Given the description of an element on the screen output the (x, y) to click on. 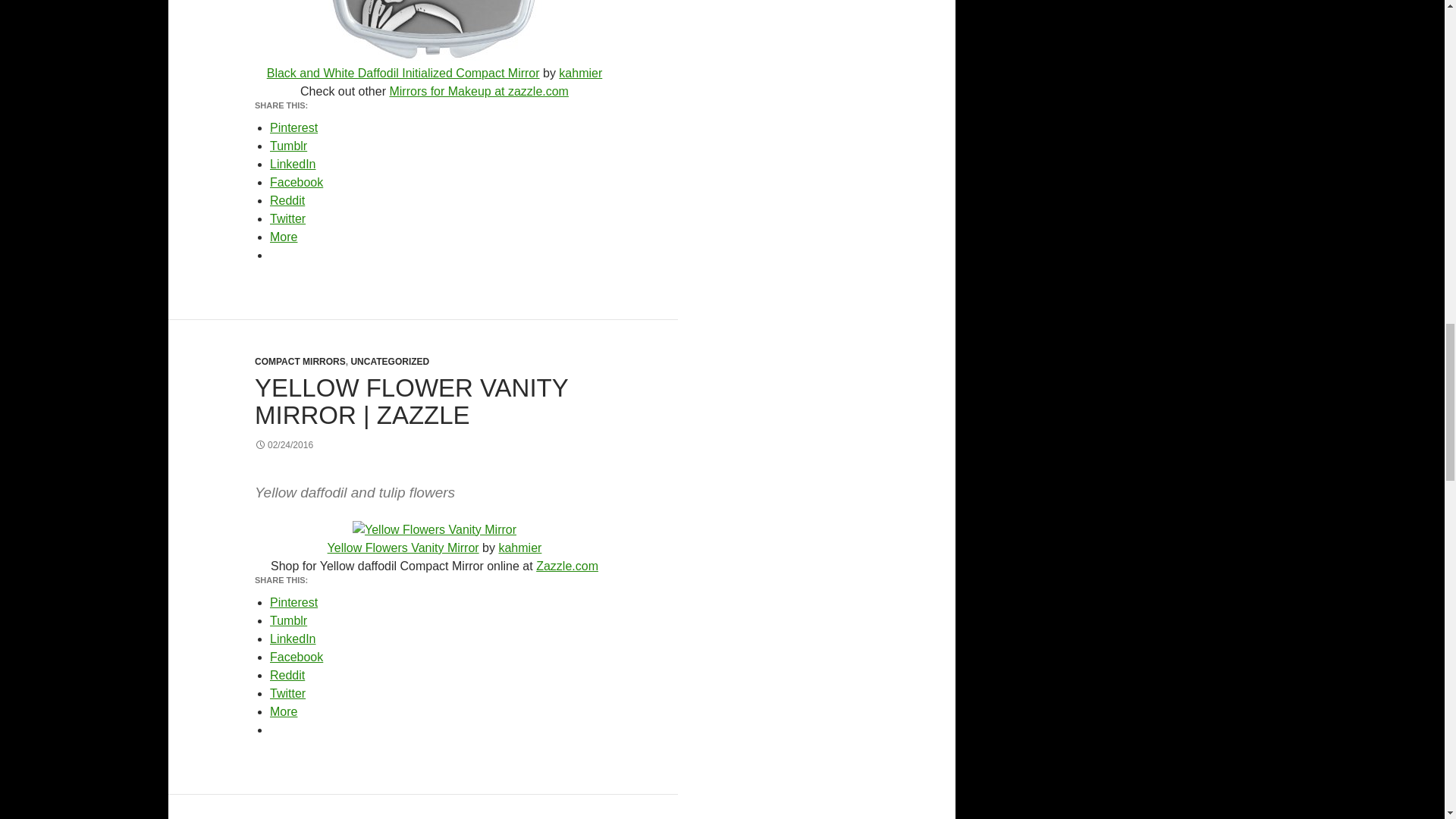
Click to share on Twitter (287, 218)
Mirrors for Makeup at zazzle.com (478, 91)
Click to share on Reddit (286, 200)
Click to share on Facebook (296, 182)
Black and White Daffodil Initialized Compact Mirror (403, 72)
Click to share on Pinterest (293, 127)
Click to share on Tumblr (288, 145)
kahmier (580, 72)
Click to share on LinkedIn (292, 164)
